Given the description of an element on the screen output the (x, y) to click on. 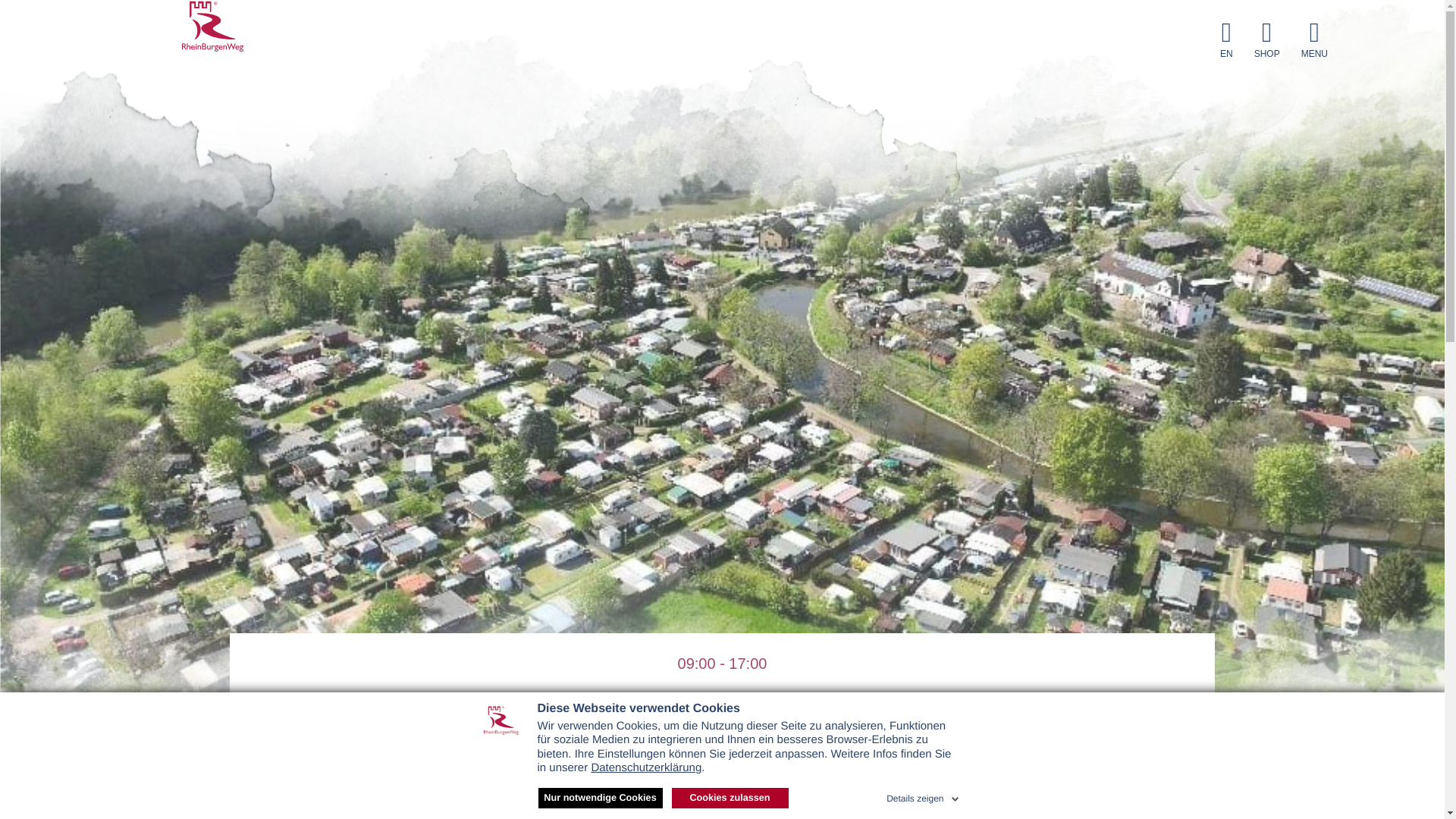
Cookies zulassen (730, 798)
Nur notwendige Cookies (600, 798)
Details zeigen (923, 795)
